Given the description of an element on the screen output the (x, y) to click on. 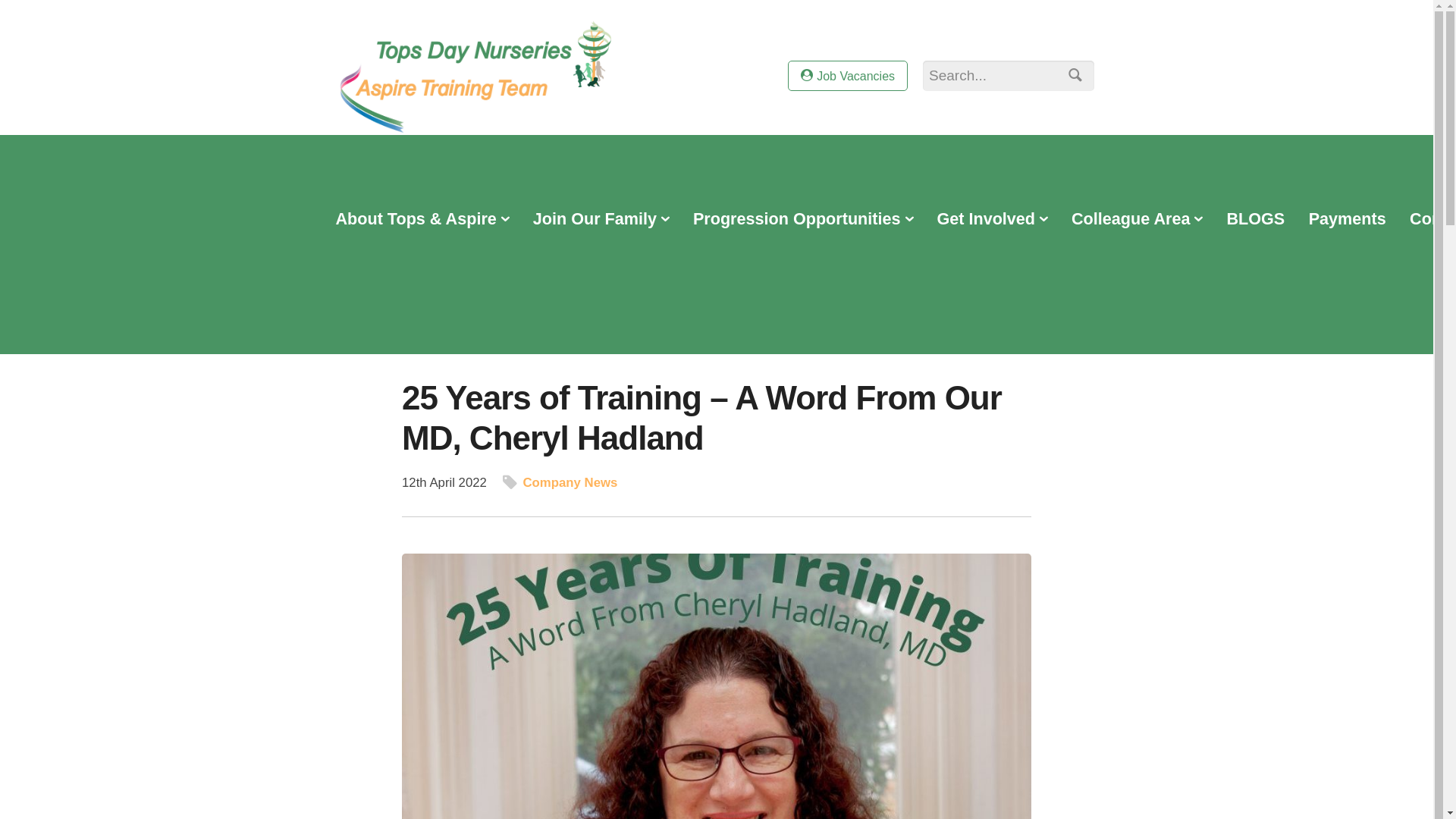
Get Involved (992, 219)
Colleague Area (1136, 219)
Search (1072, 77)
Progression Opportunities (802, 219)
Payments (1347, 220)
Join Our Family (600, 219)
Search (1072, 77)
Job Vacancies (847, 75)
Search (1072, 77)
BLOGS (1255, 220)
